Given the description of an element on the screen output the (x, y) to click on. 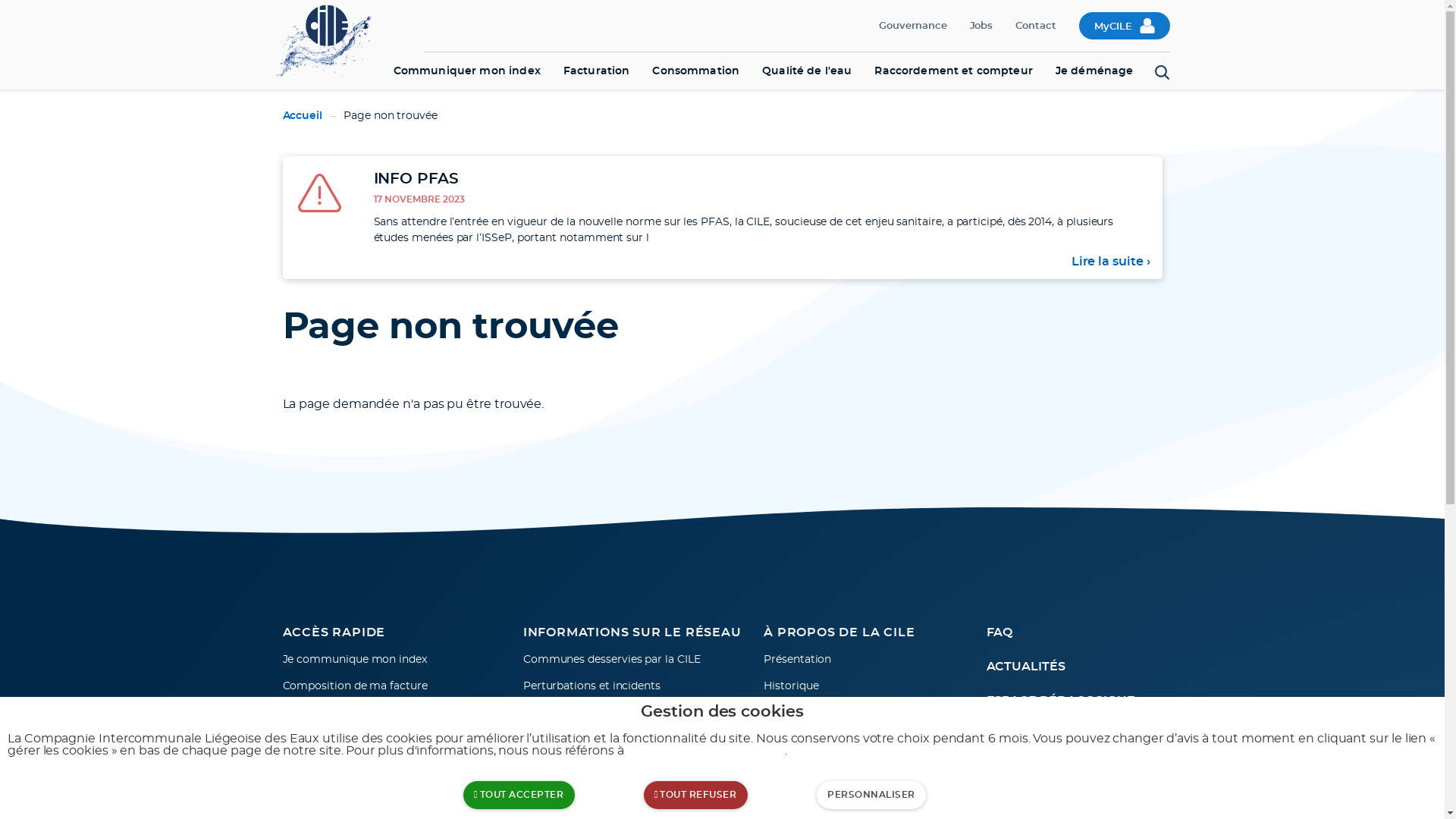
Consommation Element type: text (695, 70)
Gouvernance Element type: text (912, 26)
Historique Element type: text (868, 686)
Je domicilie ma facture Element type: text (387, 765)
MyCILE Element type: text (1124, 25)
Je communique mon index Element type: text (387, 659)
Communiquer mon index Element type: text (466, 70)
Perturbations et incidents Element type: text (628, 686)
Communes desservies par la CILE Element type: text (628, 659)
Composition de ma facture Element type: text (387, 686)
Raccordement et compteur Element type: text (953, 70)
Jobs Element type: text (981, 26)
Contact Element type: text (1035, 26)
TOUT REFUSER Element type: text (695, 795)
PERSONNALISER Element type: text (870, 795)
Accueil Element type: hover (330, 39)
FAQ Element type: text (1073, 632)
La CILE et l'environnement Element type: text (868, 765)
TOUT ACCEPTER Element type: text (518, 795)
Search Element type: text (1161, 72)
Accueil Element type: text (302, 115)
Facturation Element type: text (596, 70)
INFO PFAS Element type: text (415, 178)
notre politique de cookies Element type: text (705, 750)
